Given the description of an element on the screen output the (x, y) to click on. 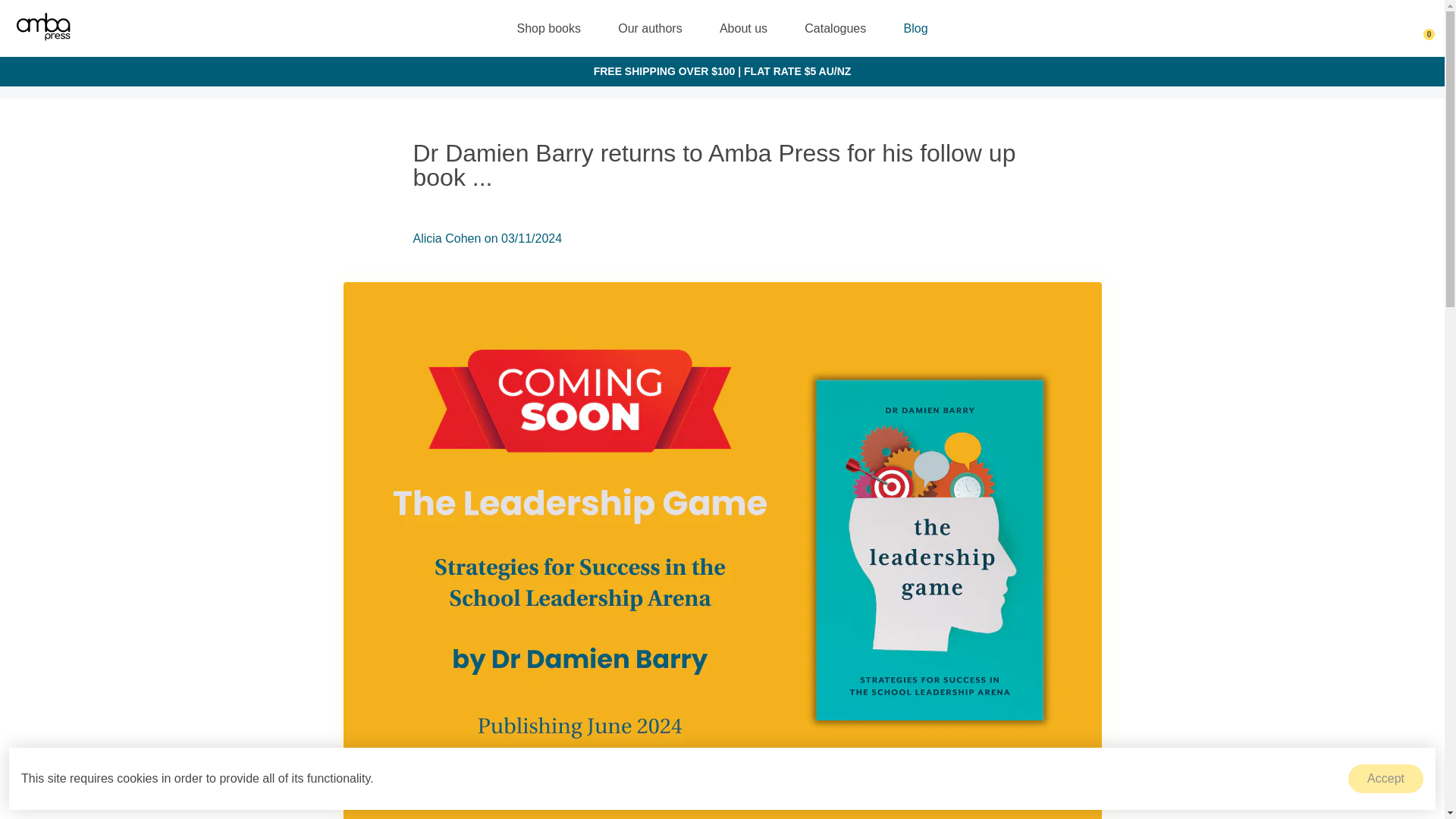
Our authors (649, 28)
Catalogues (834, 28)
About us (743, 28)
Blog (915, 28)
Shop books (547, 28)
